Given the description of an element on the screen output the (x, y) to click on. 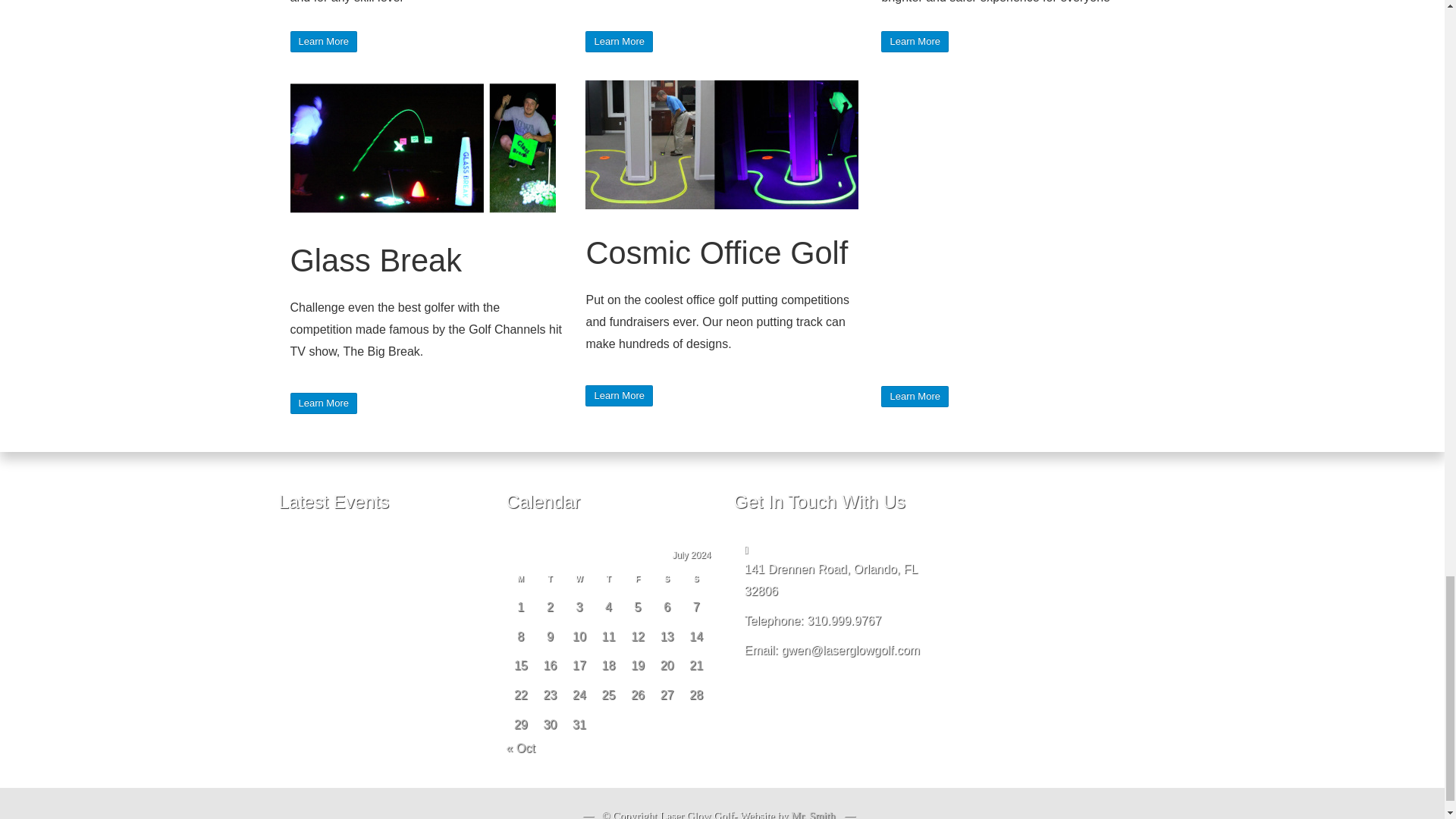
Learn More (322, 41)
Learn More (618, 395)
Learn More (322, 402)
Learn More (322, 402)
Learn More (913, 41)
Learn More (913, 41)
Learn More (322, 41)
Learn More (618, 41)
Tuesday (549, 582)
Learn More (913, 395)
Monday (520, 582)
Learn More (618, 41)
